Given the description of an element on the screen output the (x, y) to click on. 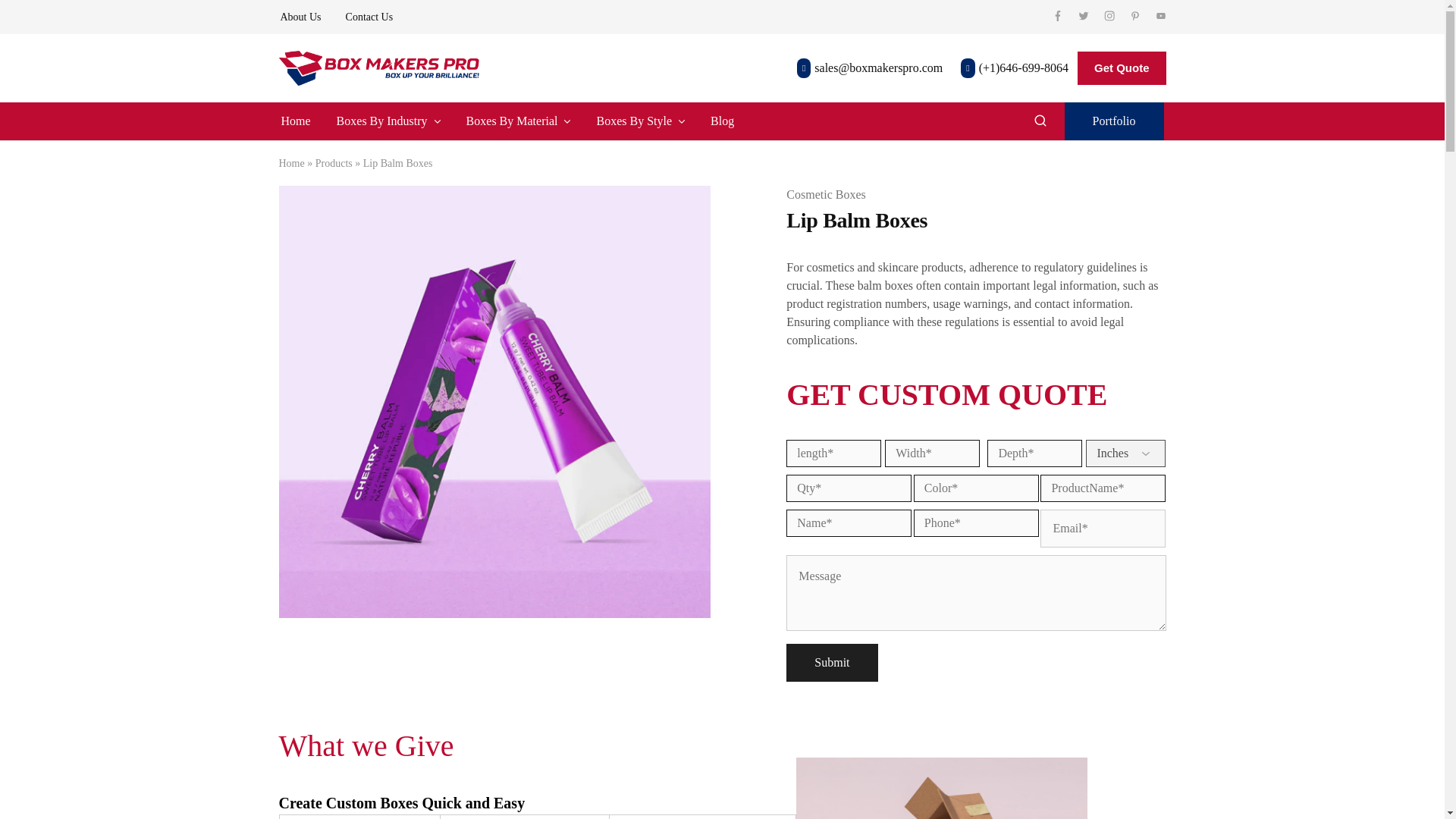
About Us (301, 17)
Get Quote (1117, 68)
Boxes By Material (518, 121)
Contact Us (368, 17)
Boxes By Style (640, 121)
Get Quote (1121, 68)
Home (296, 121)
Boxes By Industry (388, 121)
